Given the description of an element on the screen output the (x, y) to click on. 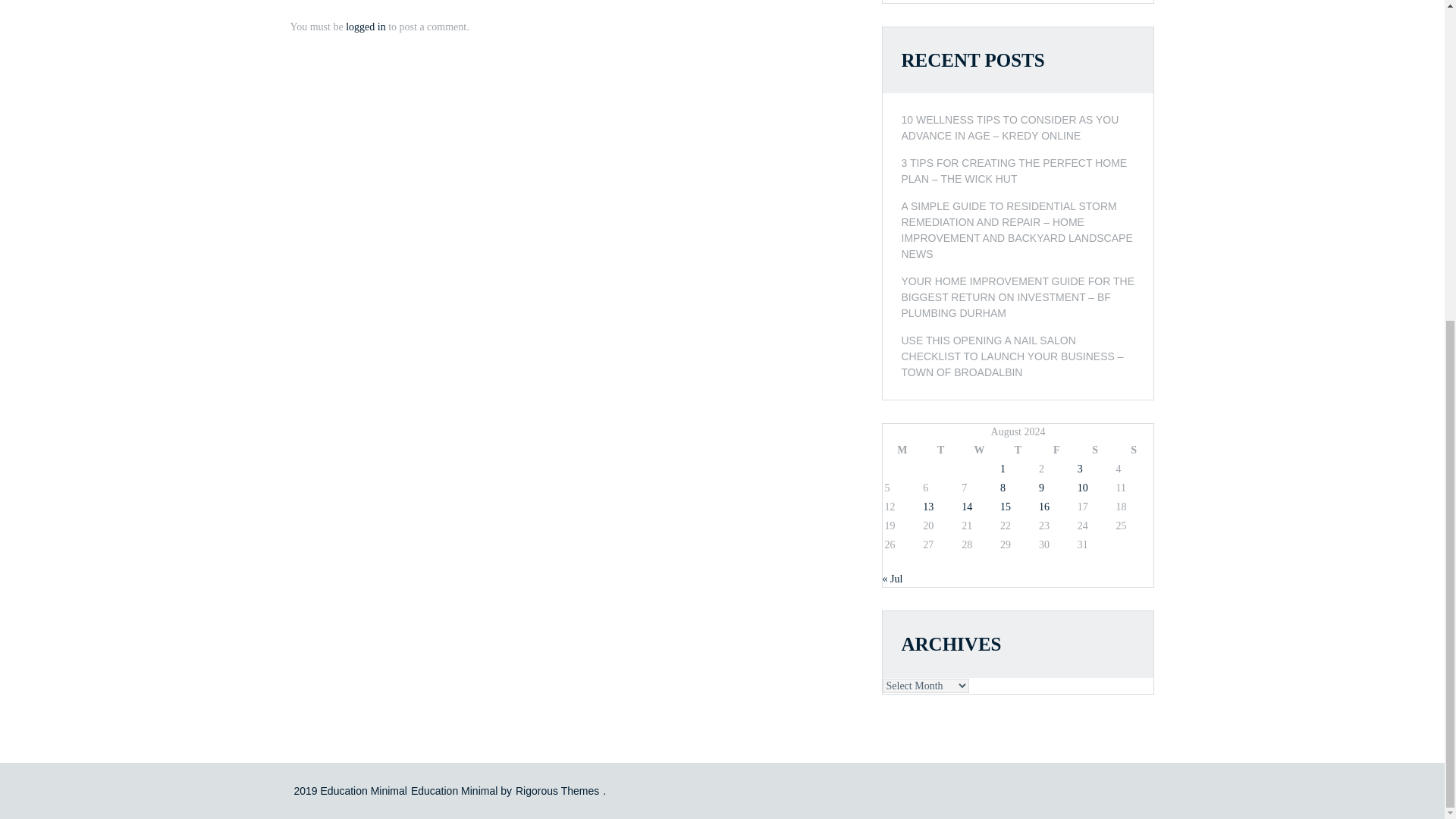
10 (1082, 487)
Tuesday (940, 449)
14 (966, 506)
15 (1005, 506)
Rigorous Themes (556, 789)
16 (1044, 506)
Sunday (1134, 449)
Thursday (1017, 449)
Friday (1056, 449)
logged in (365, 26)
